Given the description of an element on the screen output the (x, y) to click on. 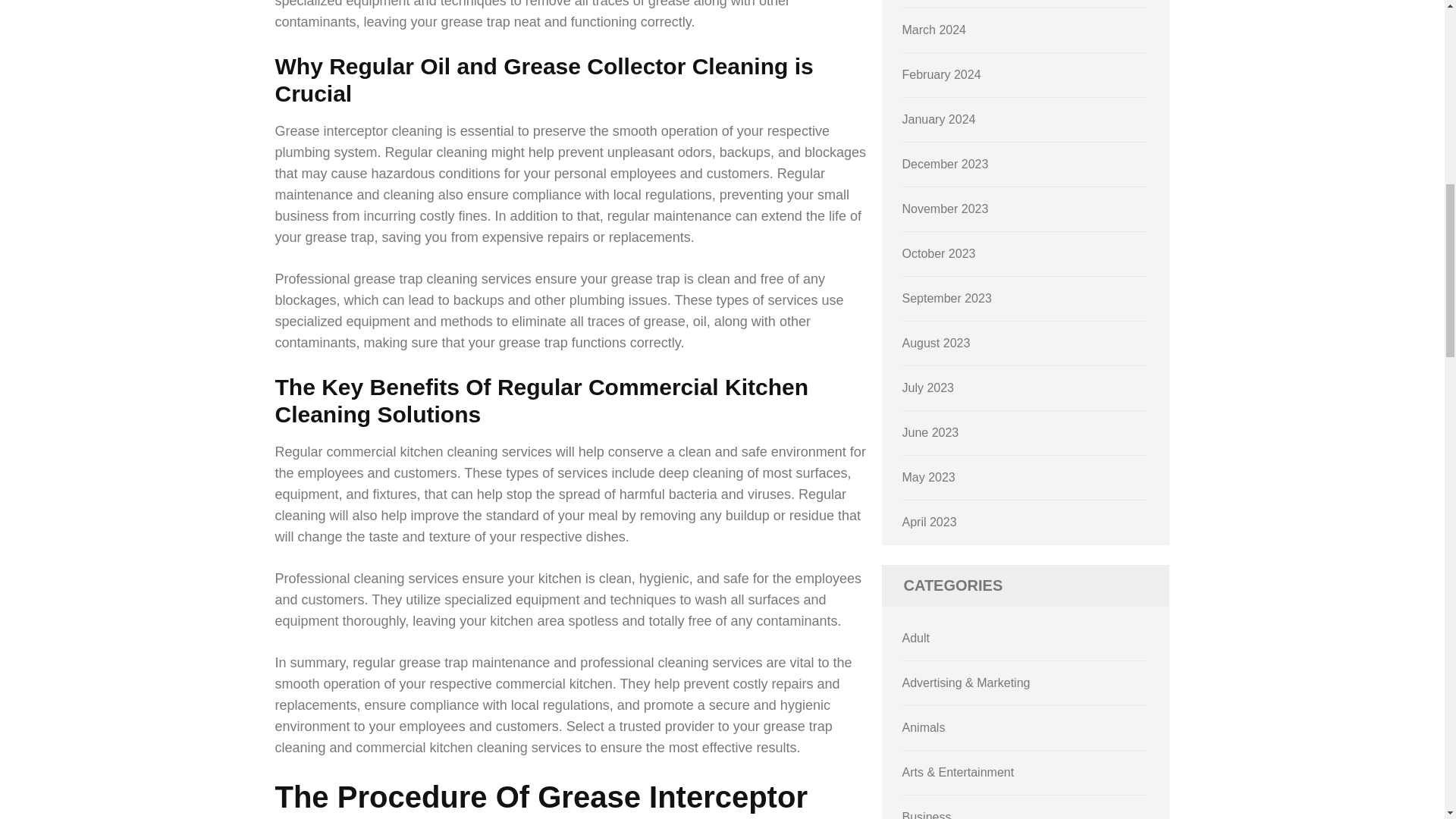
November 2023 (945, 208)
September 2023 (946, 297)
February 2024 (941, 74)
December 2023 (945, 164)
Animals (923, 727)
August 2023 (936, 342)
Adult (916, 637)
March 2024 (934, 29)
October 2023 (938, 253)
July 2023 (928, 387)
June 2023 (930, 431)
April 2023 (929, 521)
May 2023 (928, 477)
January 2024 (938, 119)
